Given the description of an element on the screen output the (x, y) to click on. 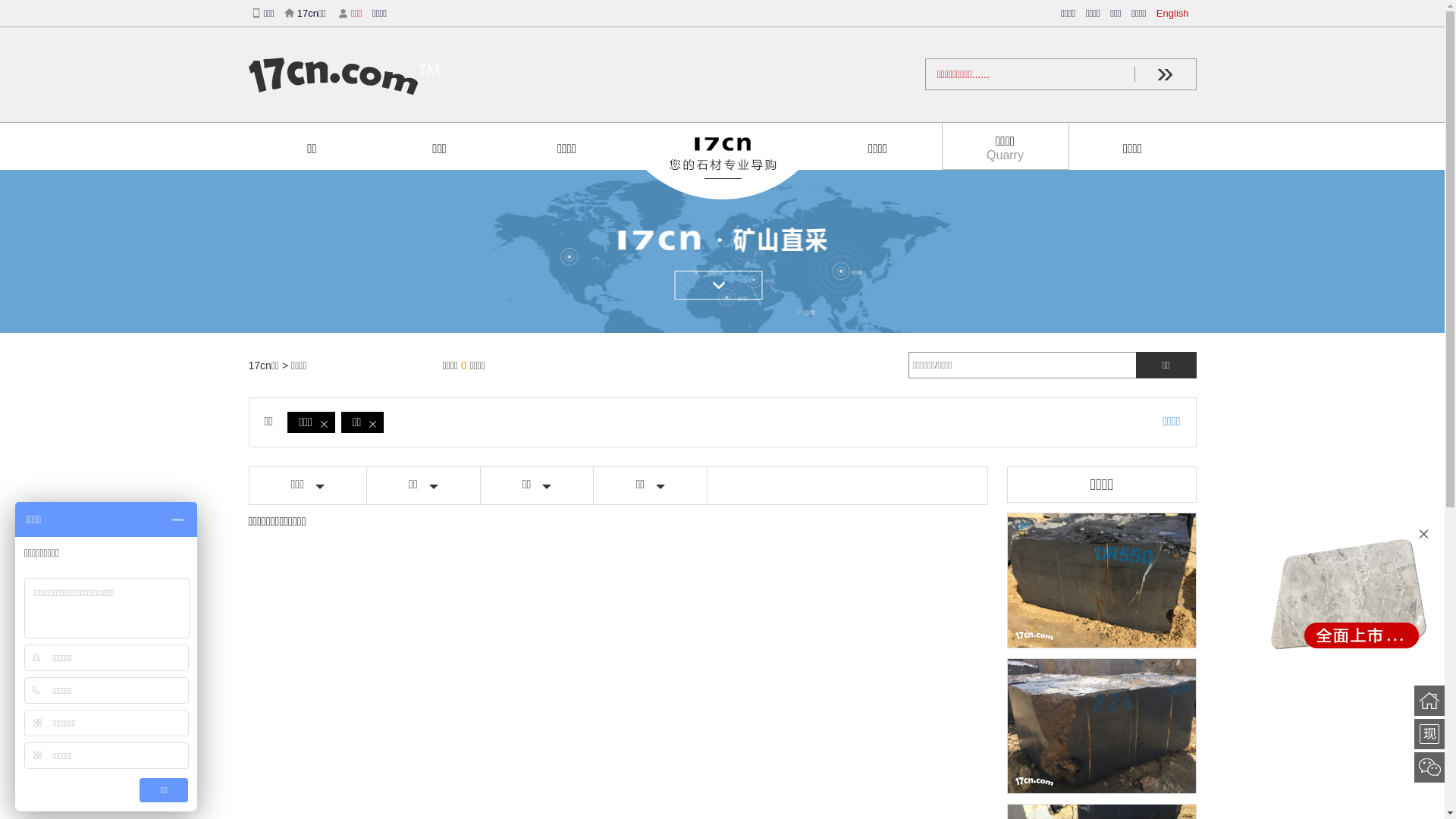
English Element type: text (1176, 12)
